Given the description of an element on the screen output the (x, y) to click on. 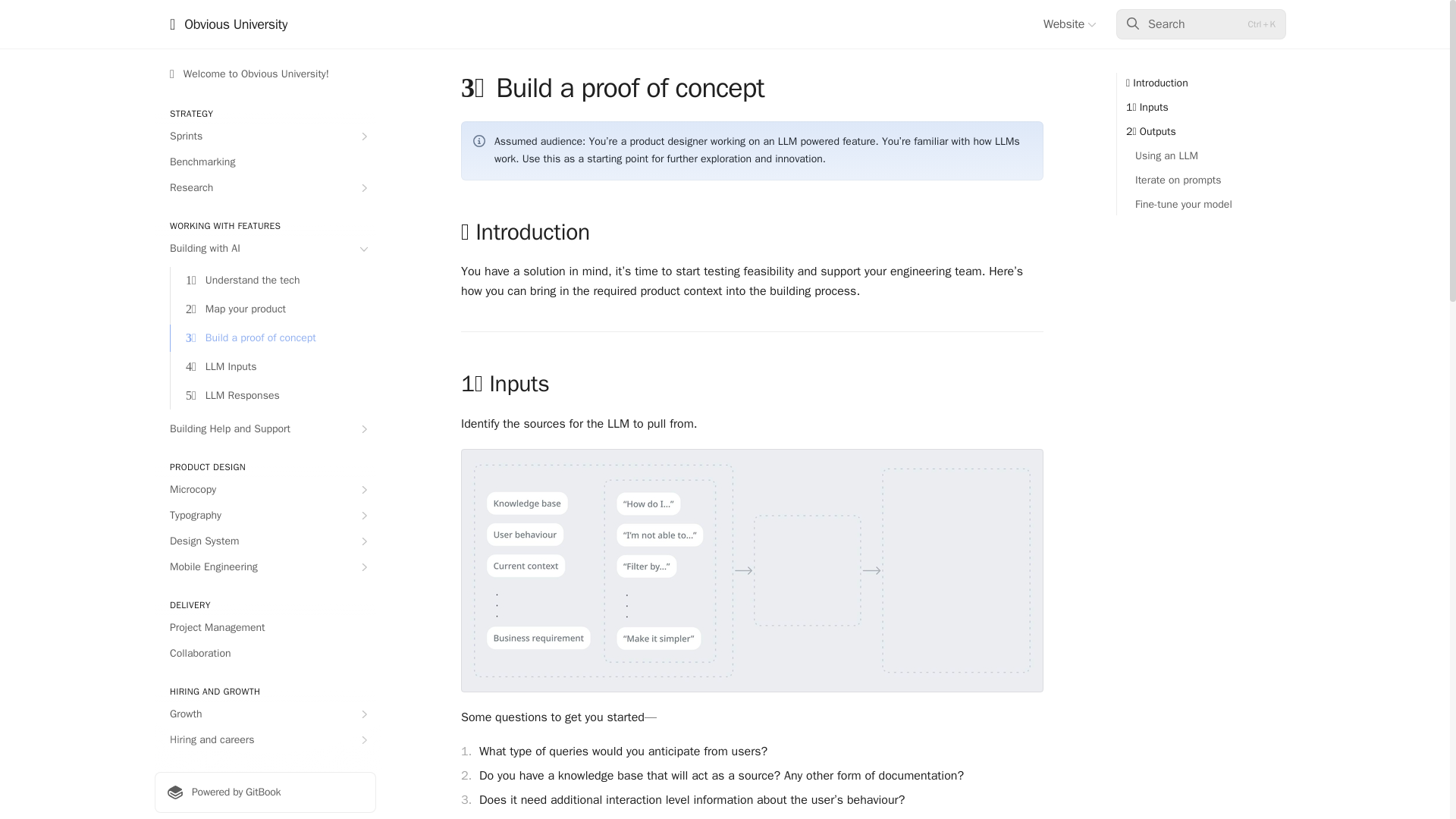
Benchmarking (264, 161)
Research (264, 187)
Microcopy (264, 489)
Sprints (264, 136)
Building Help and Support (264, 428)
Building with AI (264, 248)
Website (1069, 24)
Typography (264, 515)
